Given the description of an element on the screen output the (x, y) to click on. 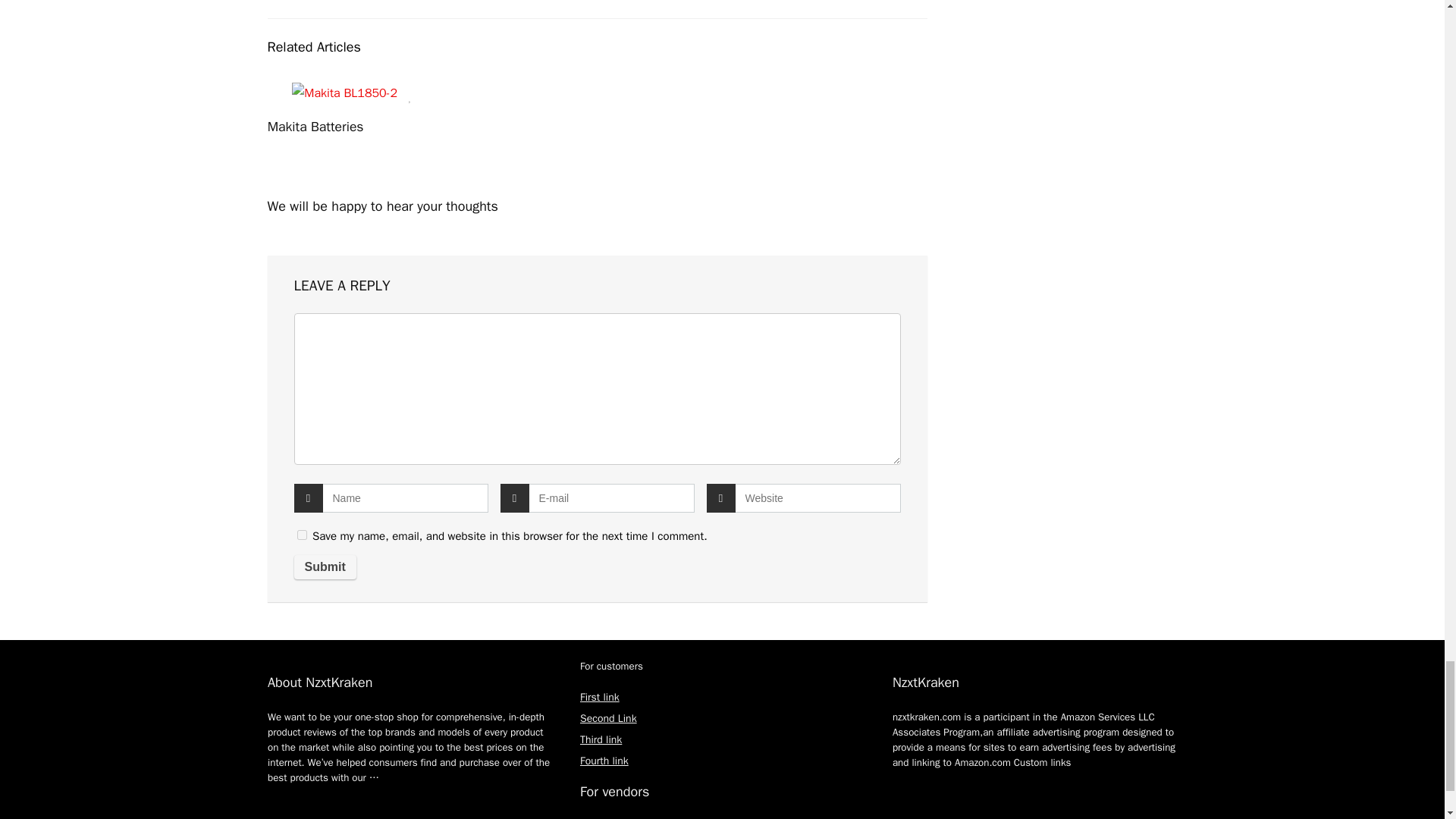
Submit (325, 567)
yes (302, 534)
